Given the description of an element on the screen output the (x, y) to click on. 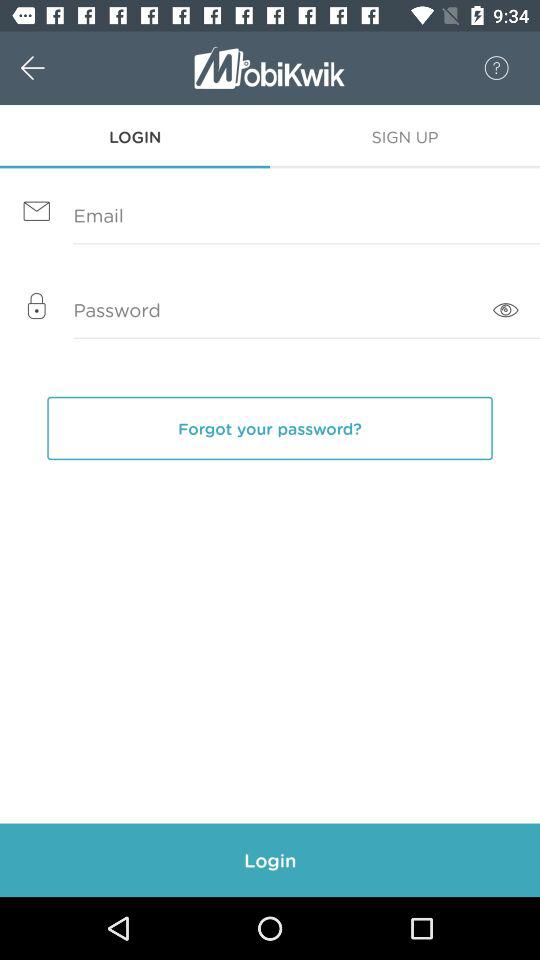
launch the item to the left of r item (54, 68)
